Given the description of an element on the screen output the (x, y) to click on. 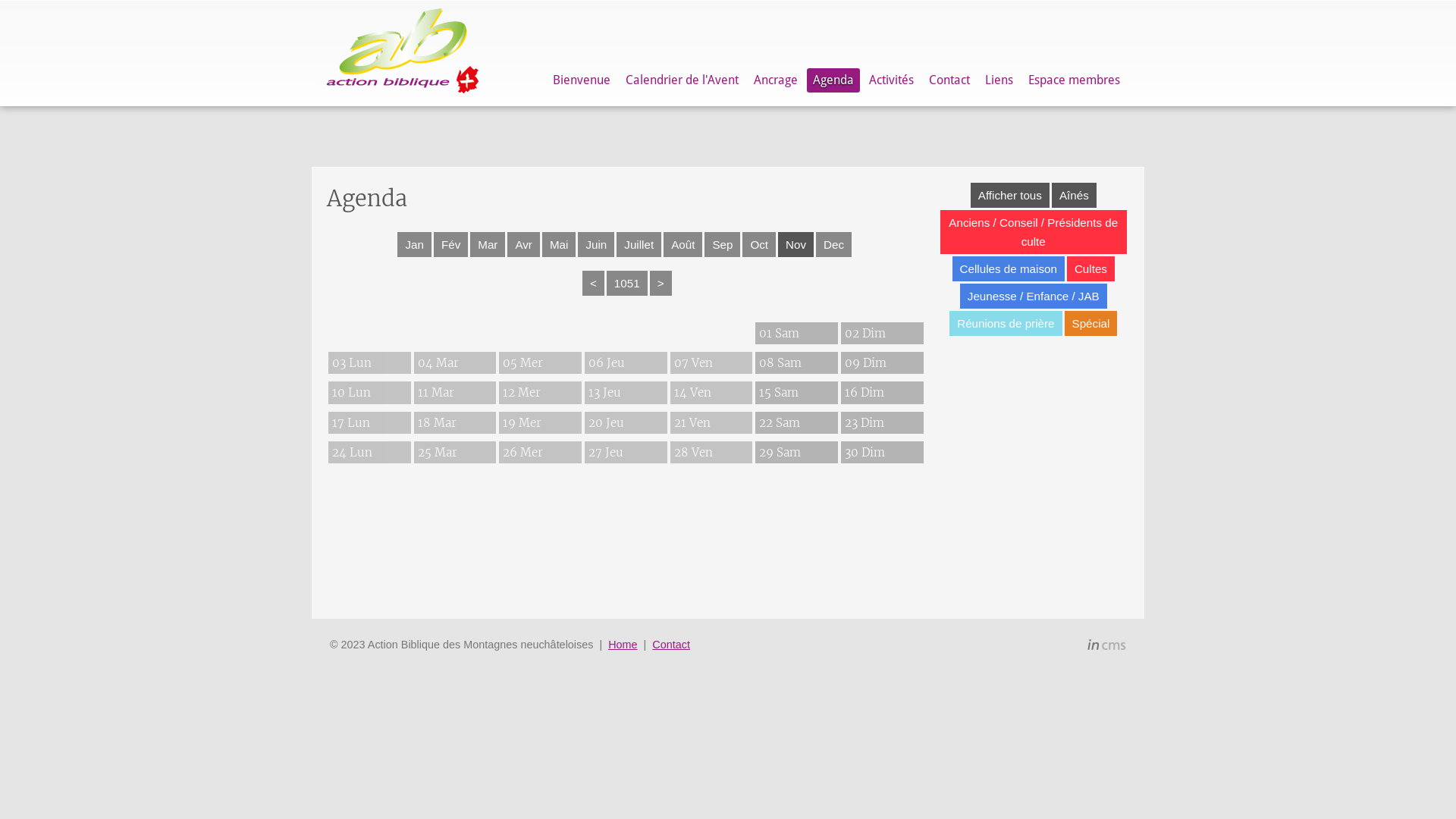
Mai Element type: text (558, 244)
Bienvenue Element type: text (581, 80)
1051 Element type: text (626, 282)
Mar Element type: text (487, 244)
Contact Element type: text (948, 80)
Contact Element type: text (671, 644)
Juillet Element type: text (638, 244)
Avr Element type: text (523, 244)
Afficher tous Element type: text (1009, 194)
Calendrier de l'Avent Element type: text (681, 80)
Espace membres Element type: text (1074, 80)
Agenda Element type: text (832, 80)
Jeunesse / Enfance / JAB Element type: text (1033, 295)
< Element type: text (593, 282)
Nov Element type: text (795, 244)
Sep Element type: text (722, 244)
Ancrage Element type: text (775, 80)
> Element type: text (660, 282)
Juin Element type: text (595, 244)
Jan Element type: text (414, 244)
Cultes Element type: text (1090, 268)
Oct Element type: text (758, 244)
Liens Element type: text (999, 80)
Home Element type: text (622, 644)
Dec Element type: text (833, 244)
Cellules de maison Element type: text (1008, 268)
